Given the description of an element on the screen output the (x, y) to click on. 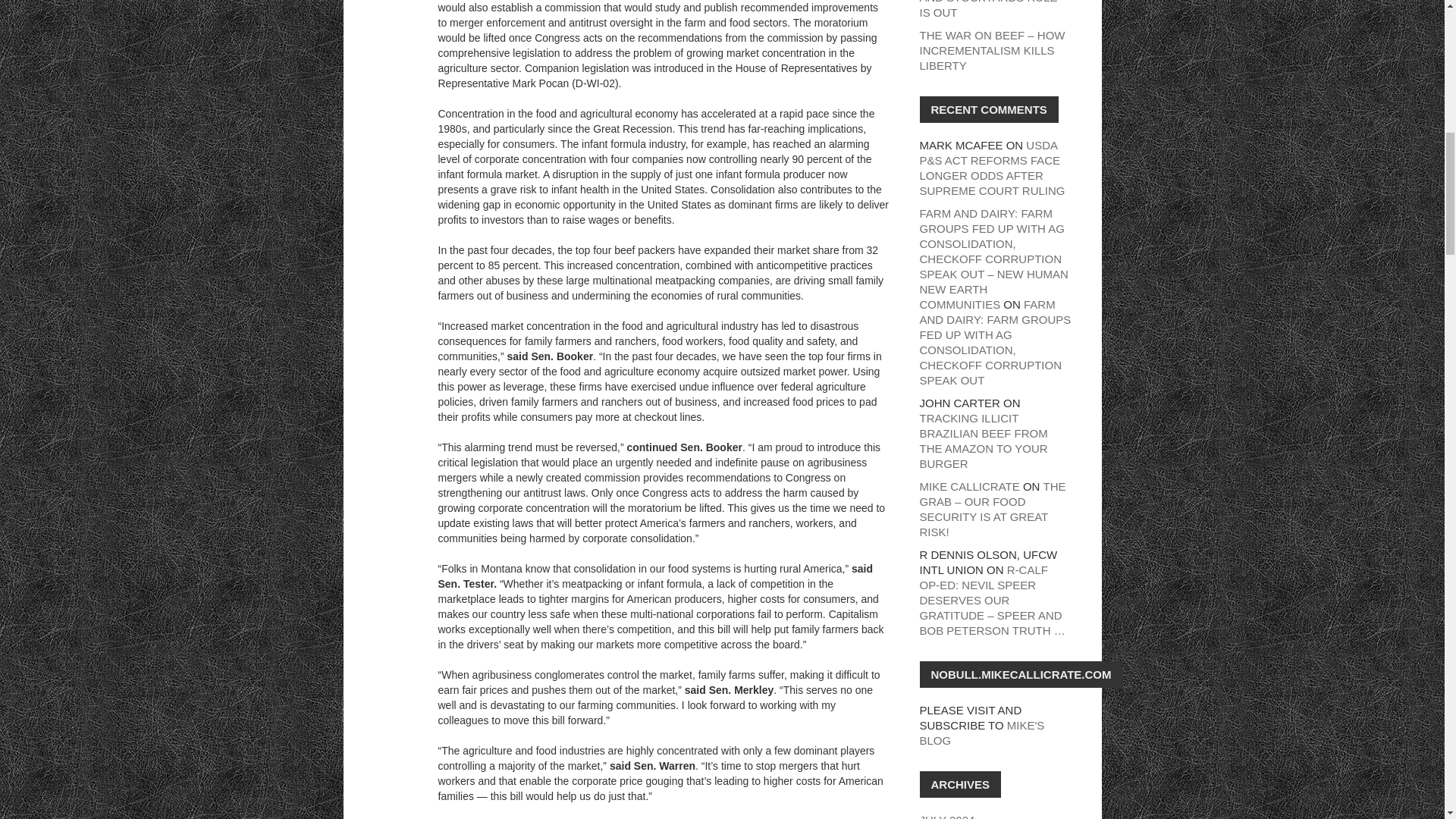
JULY 2024 (946, 816)
MIKE'S BLOG (980, 732)
R-CALF: THE PACKERS AND STOCKYARDS RULE IS OUT (987, 9)
MIKE CALLICRATE (968, 486)
